Given the description of an element on the screen output the (x, y) to click on. 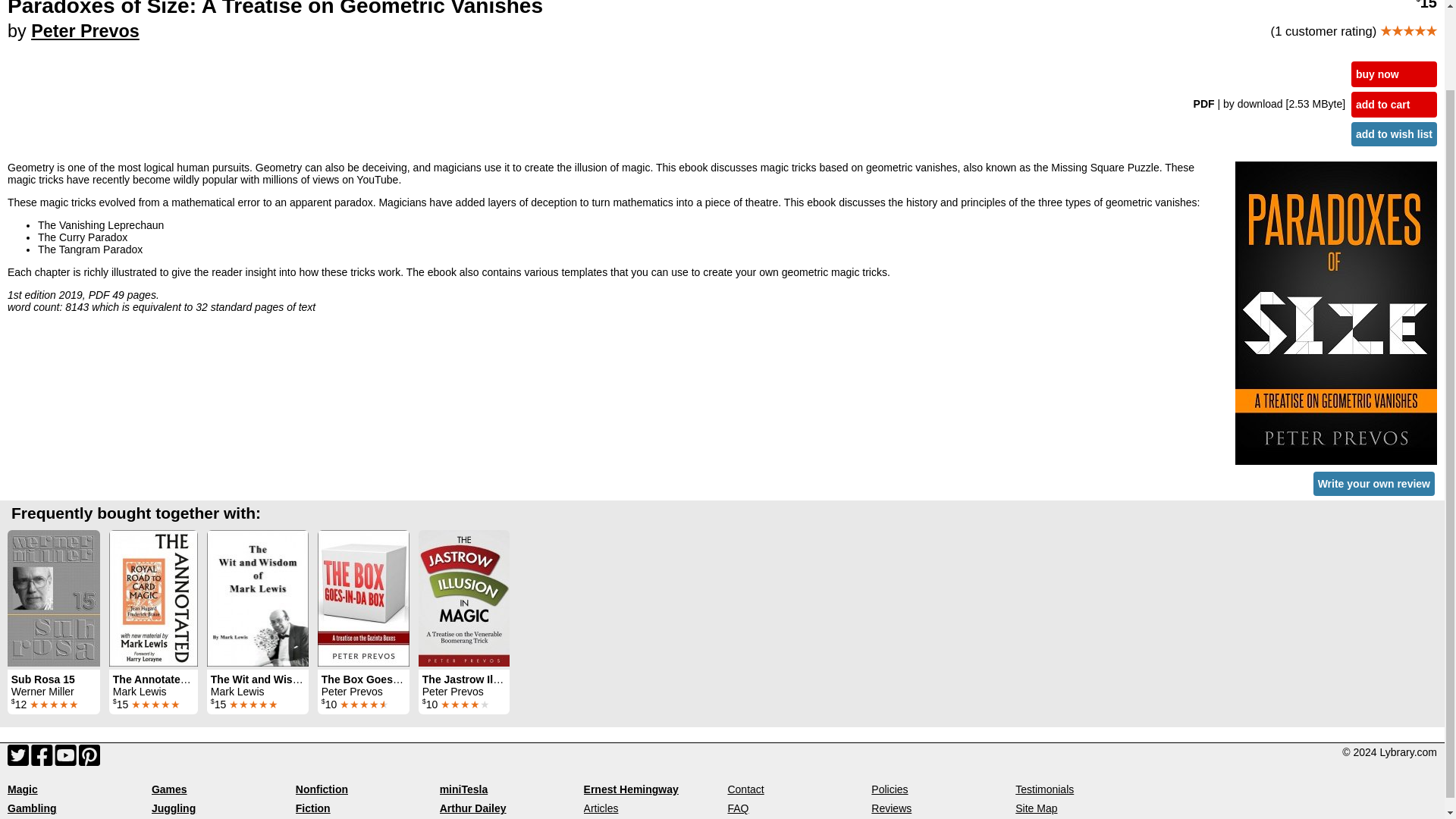
Site Map (1035, 808)
Fiction (312, 808)
Games (169, 788)
Peter Prevos (84, 30)
Nonfiction (321, 788)
buy now (1394, 73)
Magic (22, 788)
Arthur Dailey (472, 808)
Testimonials (1044, 788)
Reviews (890, 808)
miniTesla (463, 788)
add to wish list (1394, 134)
Ernest Hemingway (630, 788)
Policies (888, 788)
Contact (744, 788)
